Given the description of an element on the screen output the (x, y) to click on. 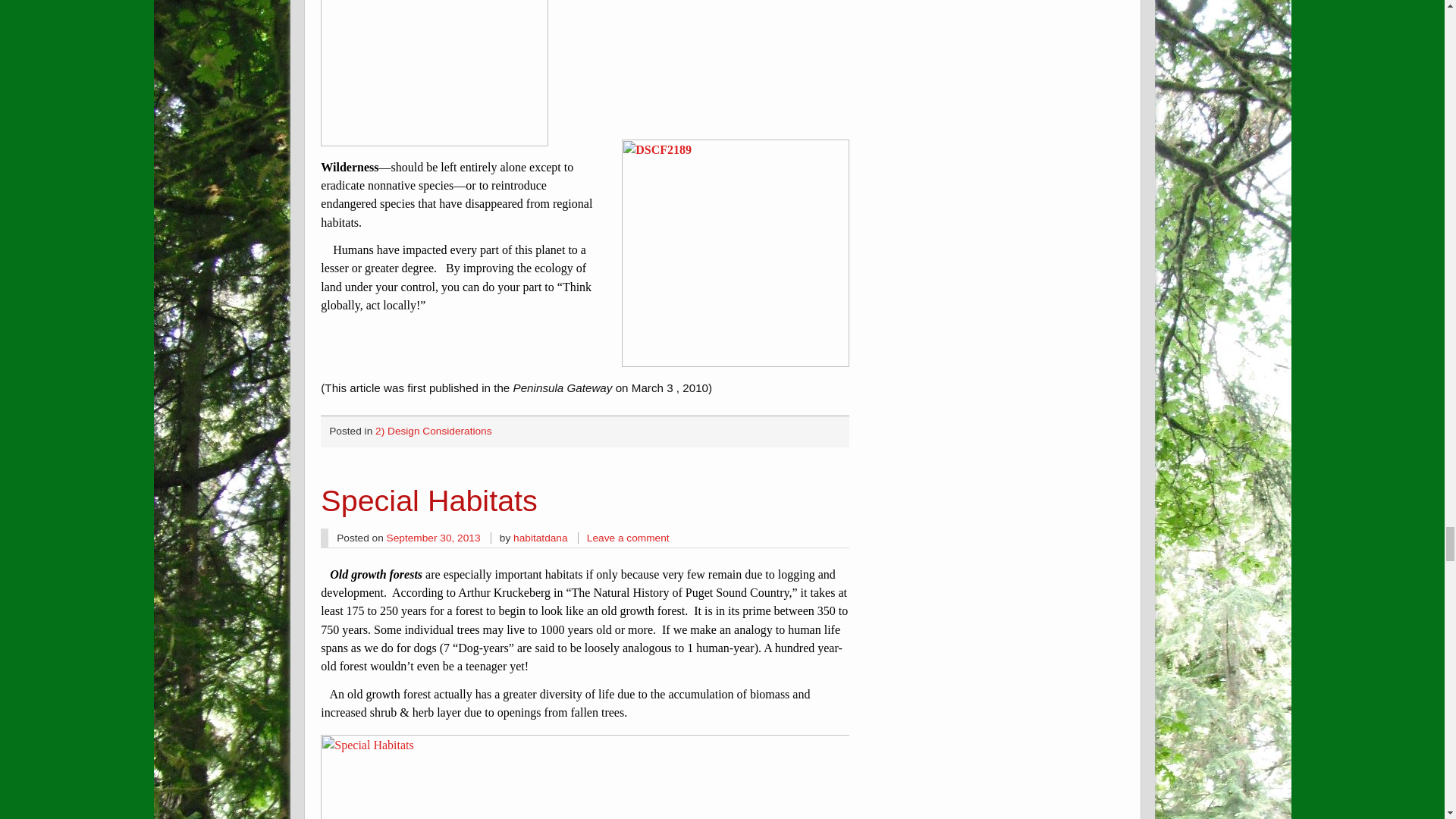
11:11 AM (433, 537)
